Given the description of an element on the screen output the (x, y) to click on. 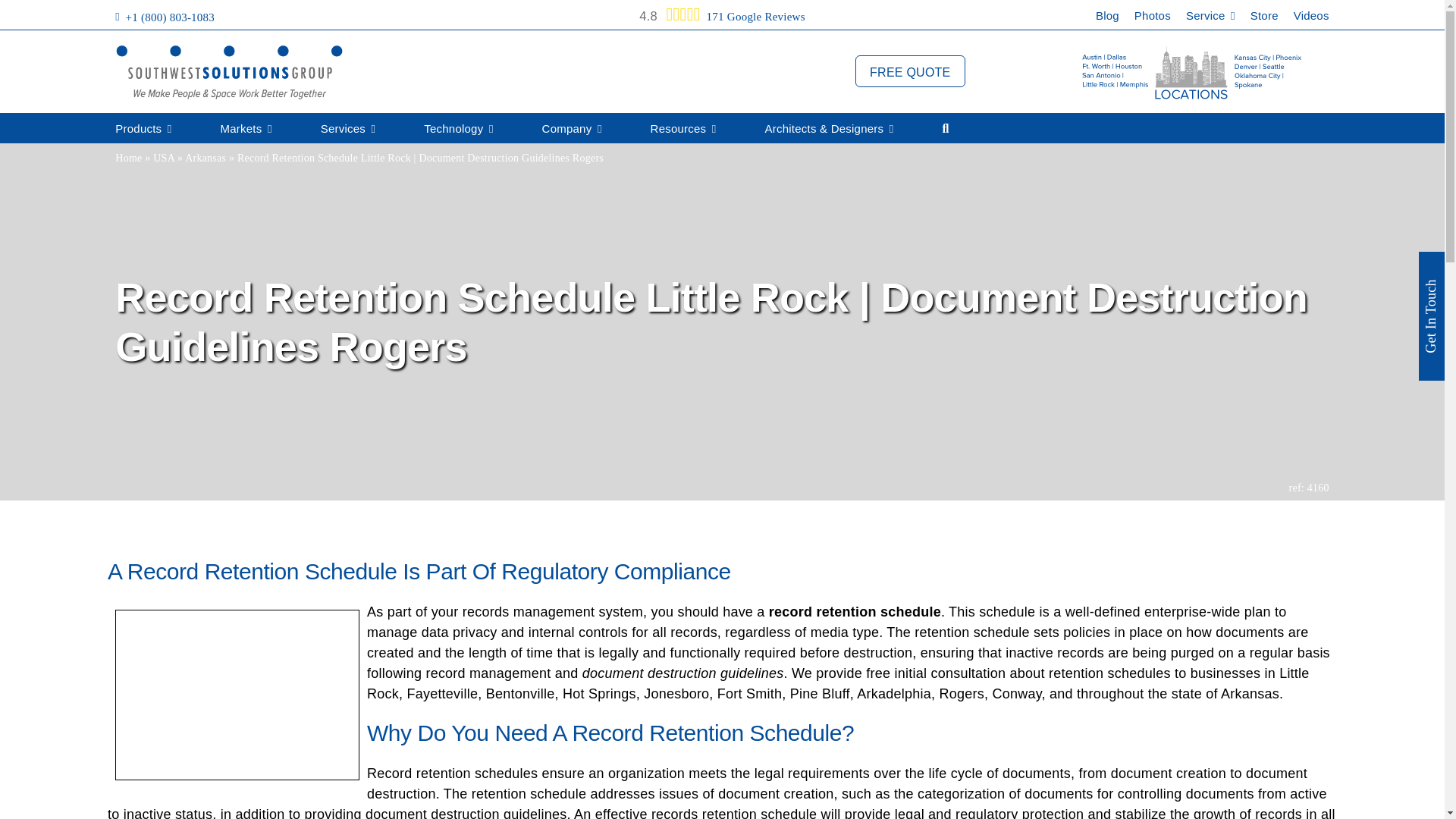
Find a local office (1192, 72)
FREE QUOTE (909, 70)
Products (143, 128)
Videos (1311, 19)
Service (1210, 19)
Photos (1152, 19)
